Given the description of an element on the screen output the (x, y) to click on. 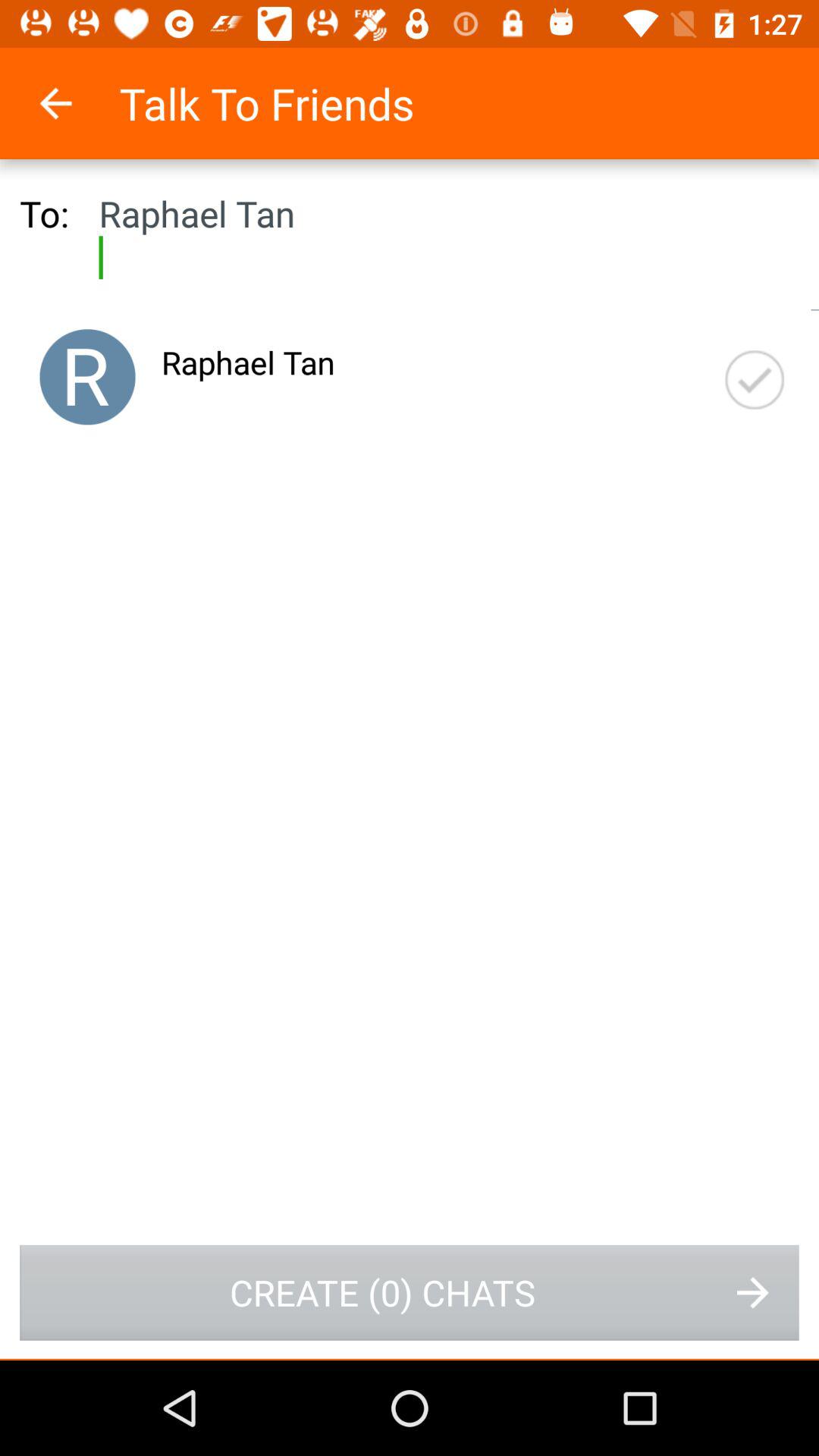
choose the item above the create (0) chats item (87, 376)
